Given the description of an element on the screen output the (x, y) to click on. 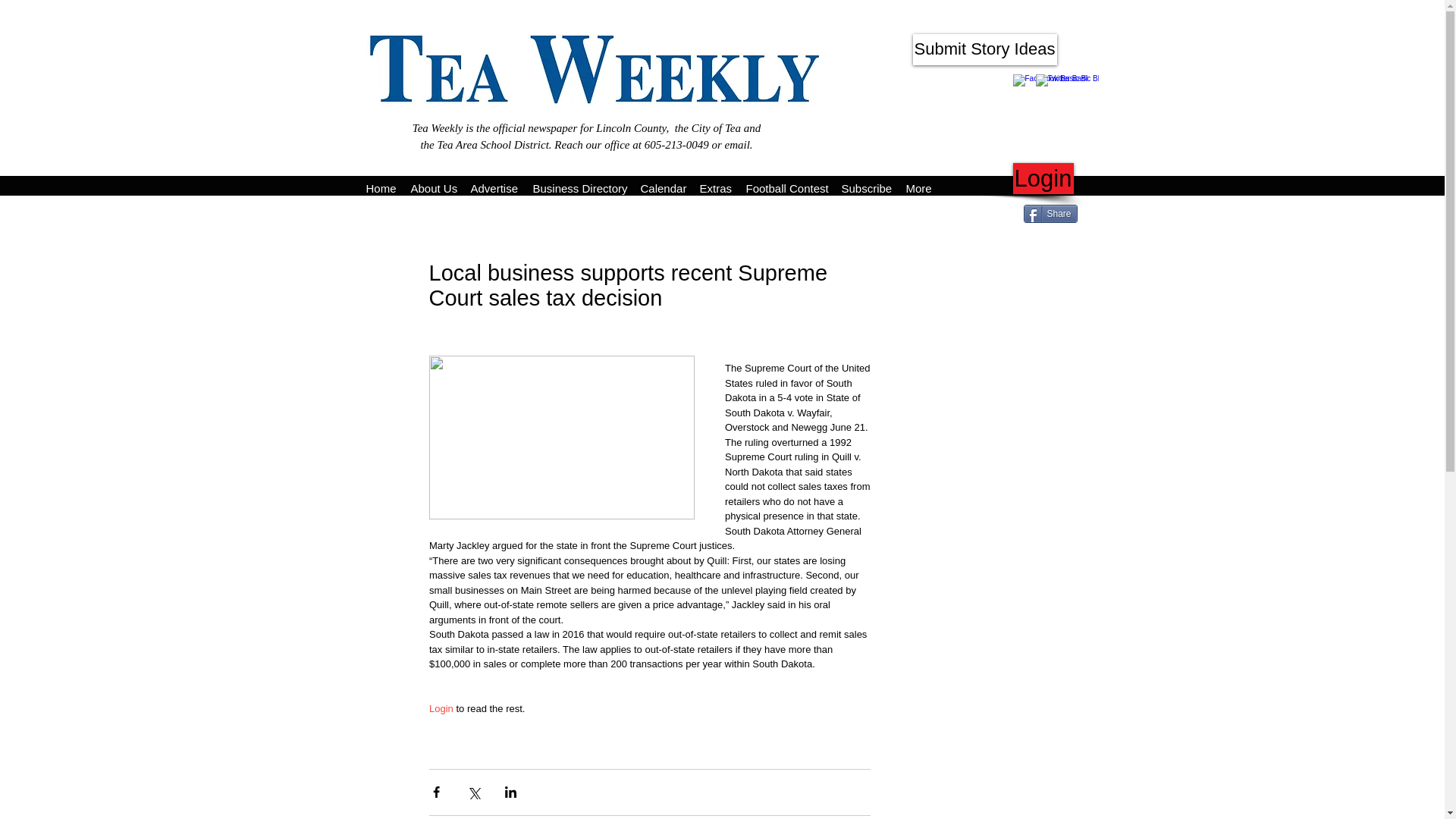
Advertise (493, 185)
Submit Story Ideas (984, 49)
Share (1050, 213)
Home (380, 185)
Subscribe (866, 185)
Login (440, 707)
Football Contest (786, 185)
Extras (714, 185)
About Us (433, 185)
Calendar (661, 185)
Login (1043, 178)
email (737, 144)
Business Directory (577, 185)
Share (1050, 213)
